Given the description of an element on the screen output the (x, y) to click on. 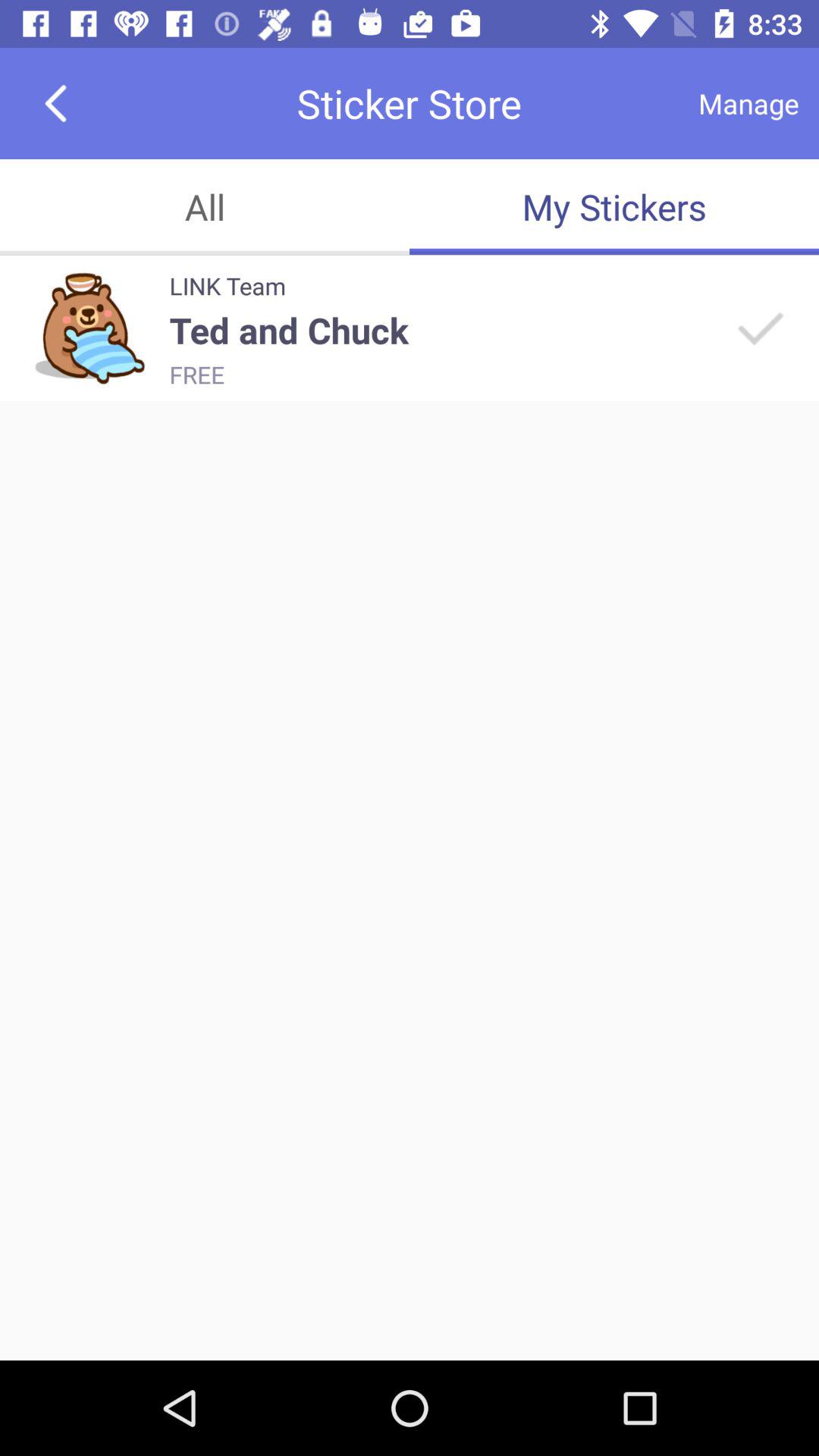
open the app next to the ted and chuck (758, 327)
